Given the description of an element on the screen output the (x, y) to click on. 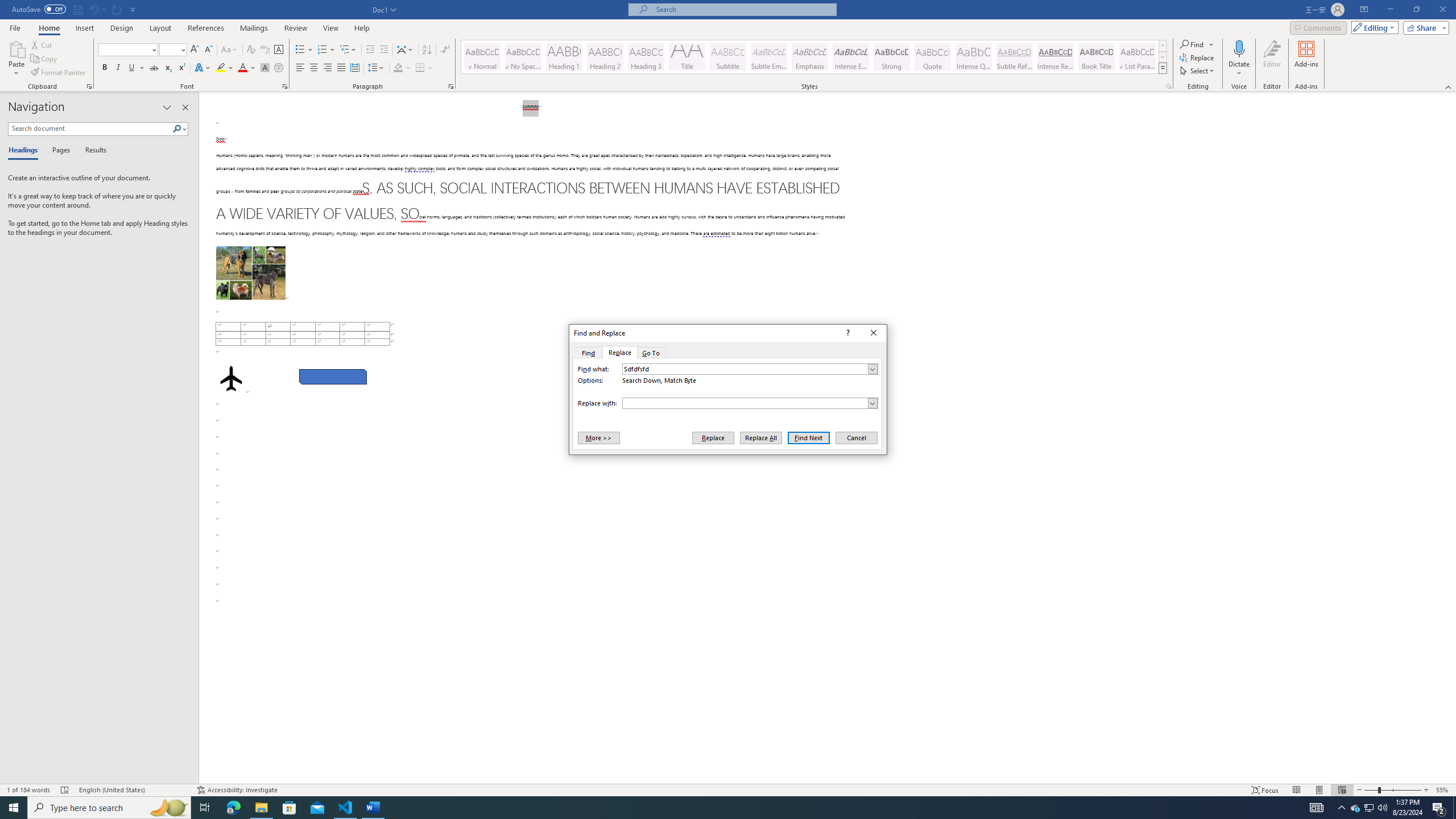
Class: MsoCommandBar (1355, 807)
Text Highlight Color Yellow (728, 789)
Cancel (220, 67)
Find Next (855, 437)
Word - 1 running window (808, 437)
Search highlights icon opens search home window (373, 807)
Task View (167, 807)
Accessibility Checker Accessibility: Investigate (204, 807)
Replace (237, 790)
Distributed (713, 437)
